Given the description of an element on the screen output the (x, y) to click on. 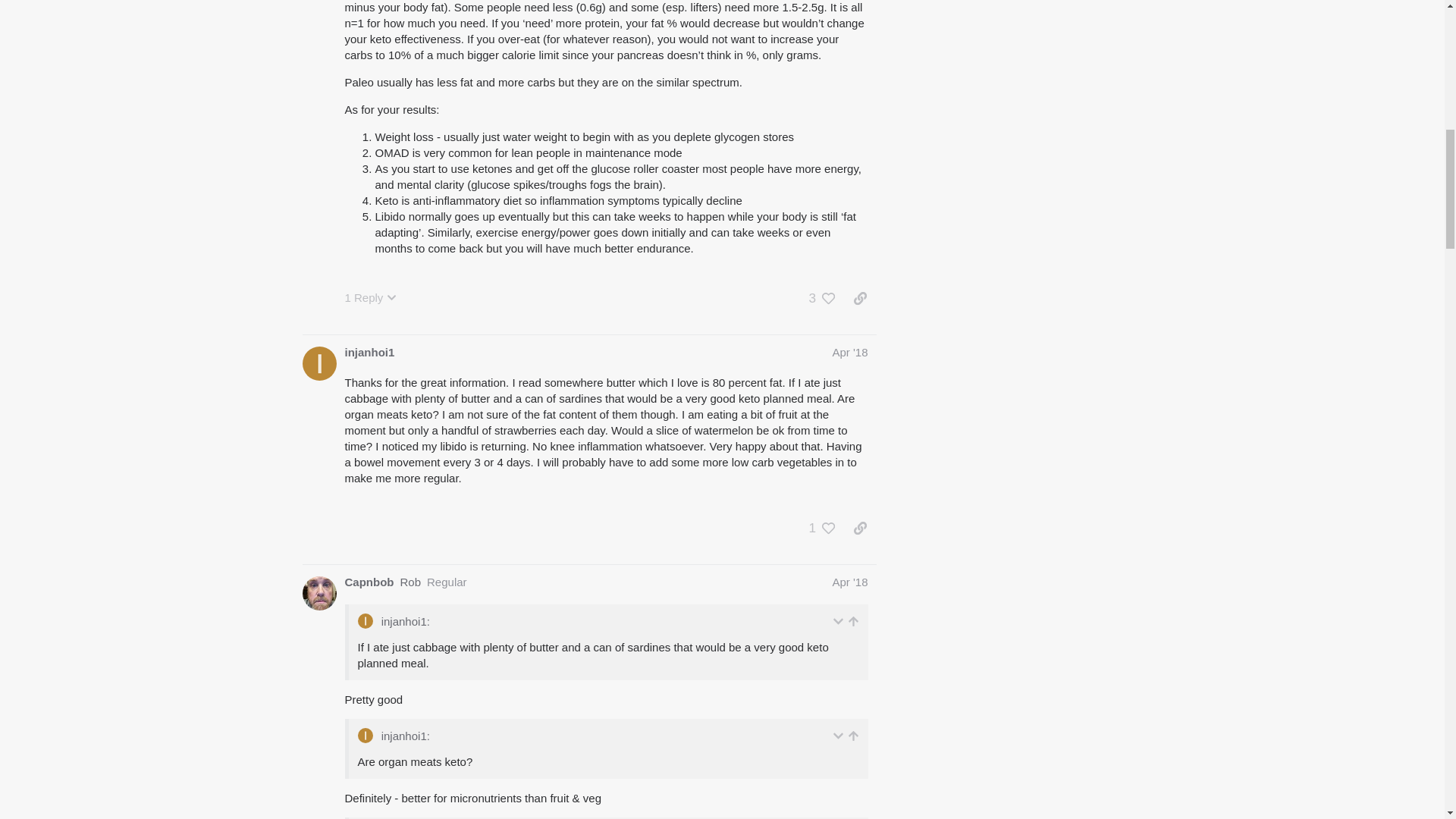
1 Reply (370, 297)
